Given the description of an element on the screen output the (x, y) to click on. 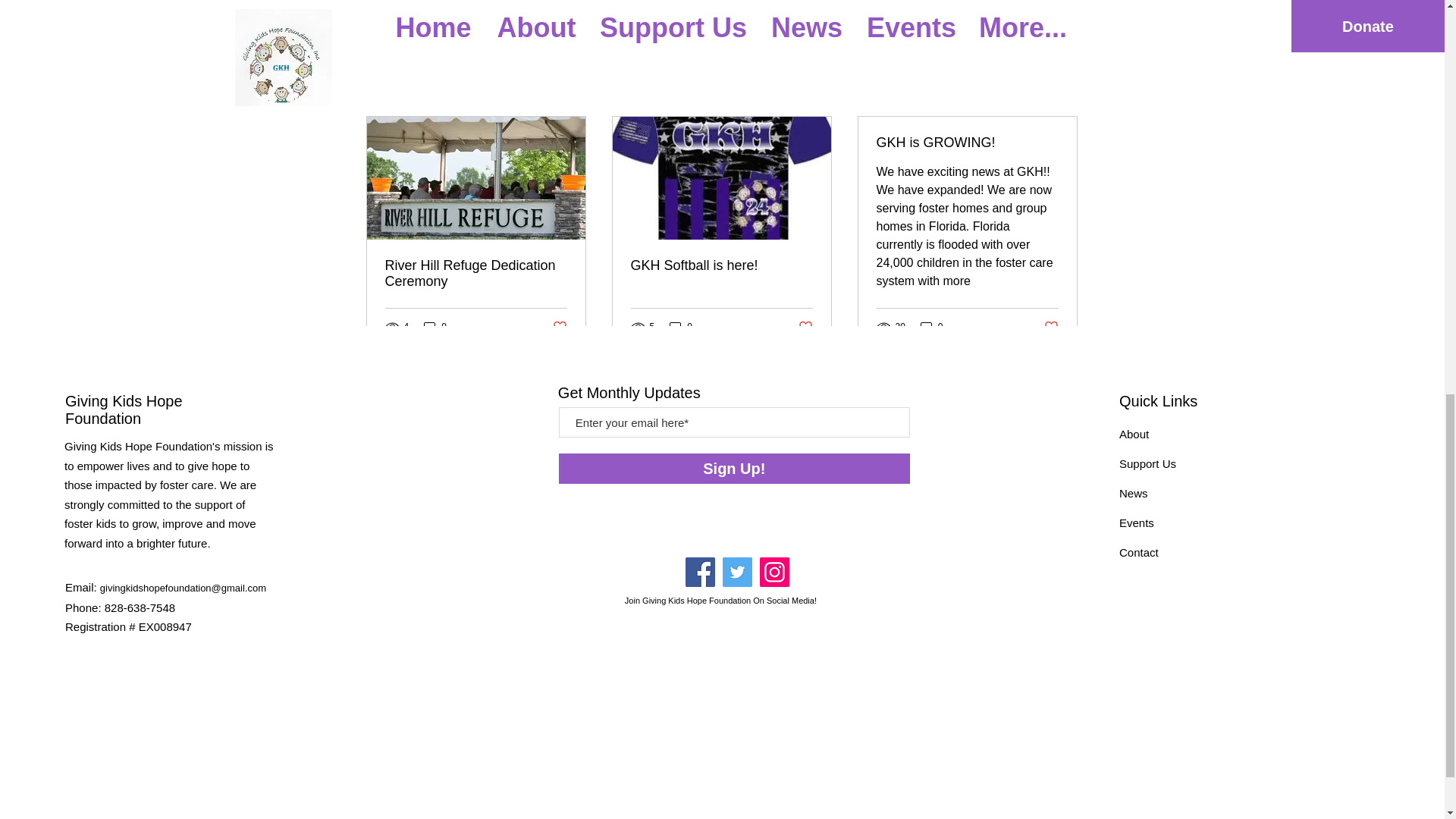
Post not marked as liked (804, 326)
River Hill Refuge Dedication Ceremony (476, 273)
News (1133, 492)
Contact (1138, 552)
Post not marked as liked (995, 7)
GKH is GROWING! (967, 142)
0 (931, 327)
Support Us (1147, 463)
Post not marked as liked (558, 326)
GKH Softball is here! (721, 265)
